Given the description of an element on the screen output the (x, y) to click on. 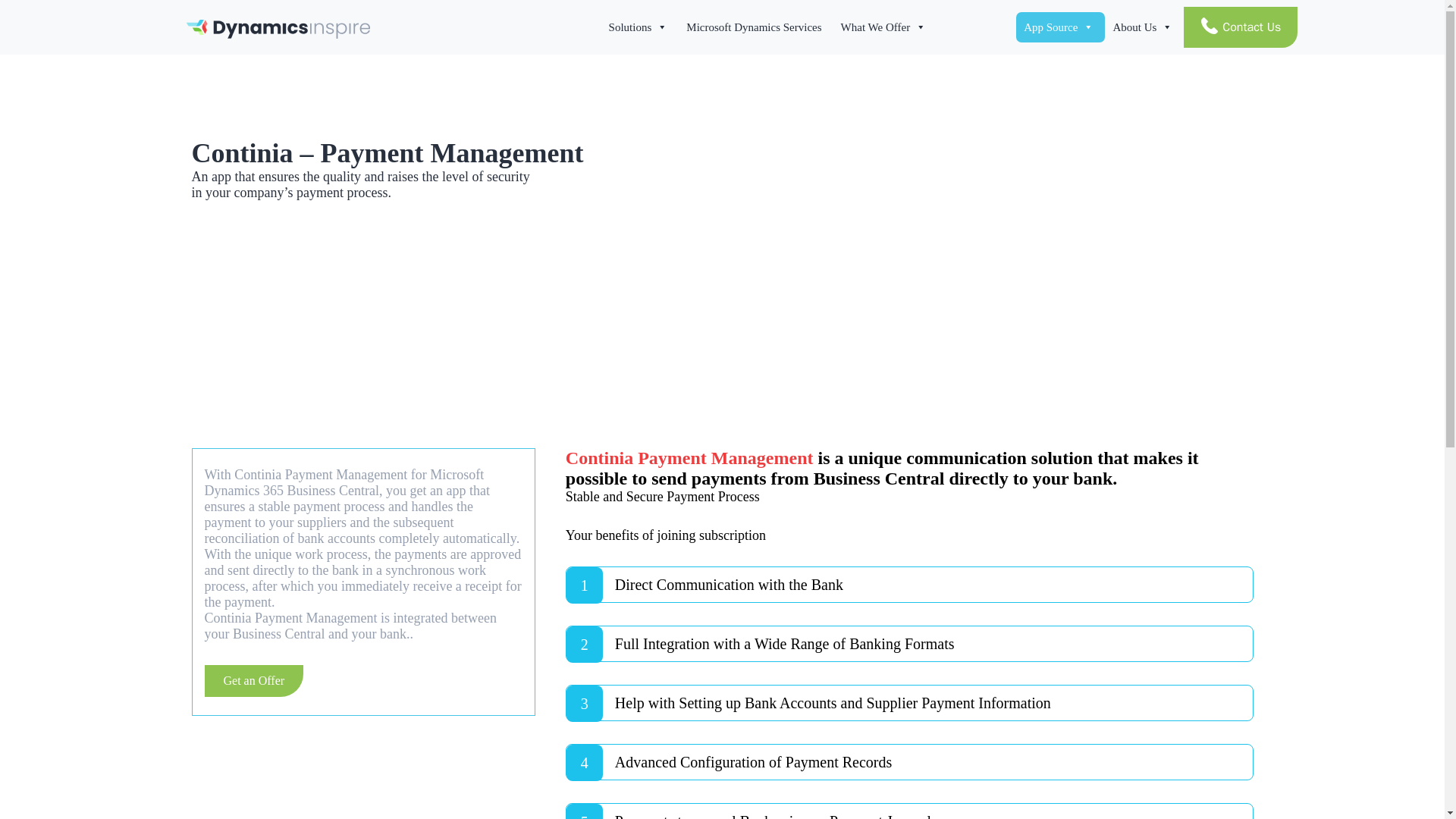
Solutions (640, 27)
About Us (1144, 27)
What We Offer (884, 27)
App Source (1060, 27)
Microsoft Dynamics Services (755, 27)
